Given the description of an element on the screen output the (x, y) to click on. 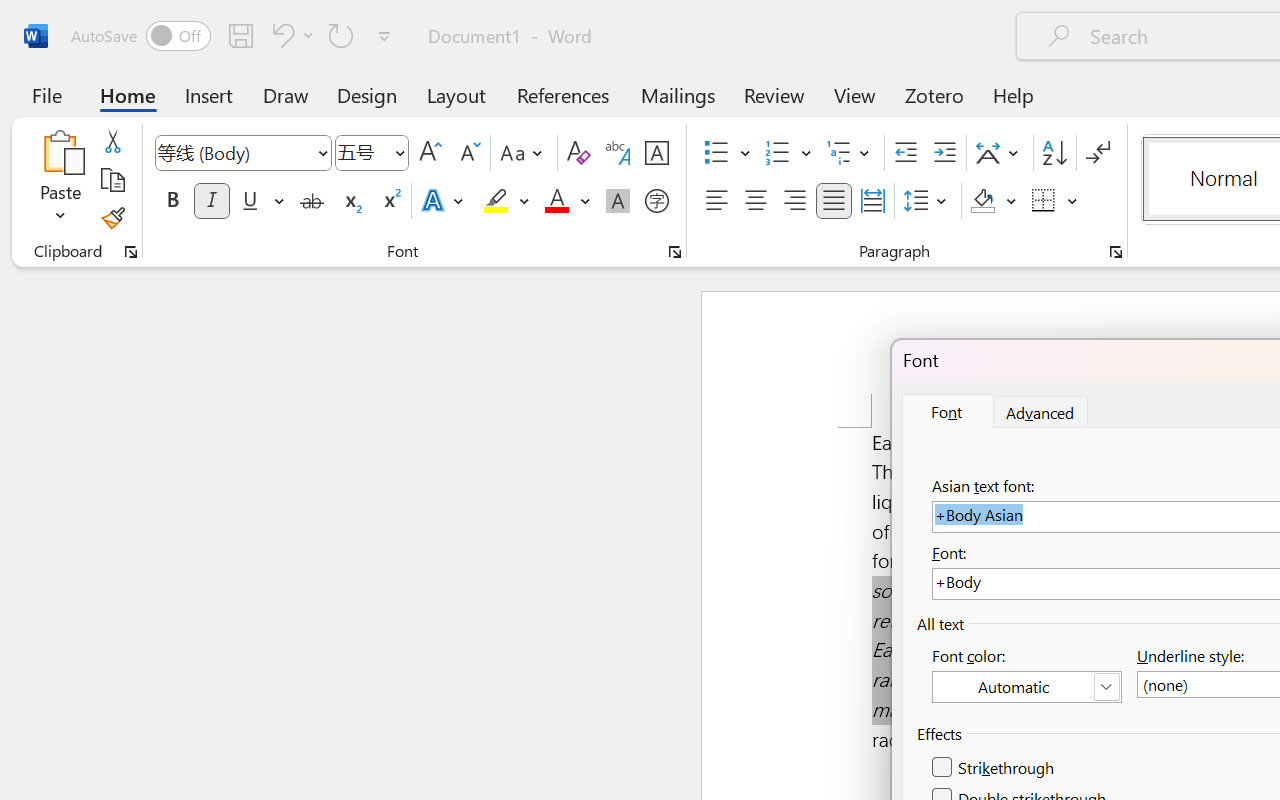
Cut (112, 141)
Font Color (Automatic) (1026, 687)
Undo Italic (290, 35)
Shading RGB(0, 0, 0) (982, 201)
Center (756, 201)
Phonetic Guide... (618, 153)
Increase Indent (944, 153)
Format Painter (112, 218)
